Given the description of an element on the screen output the (x, y) to click on. 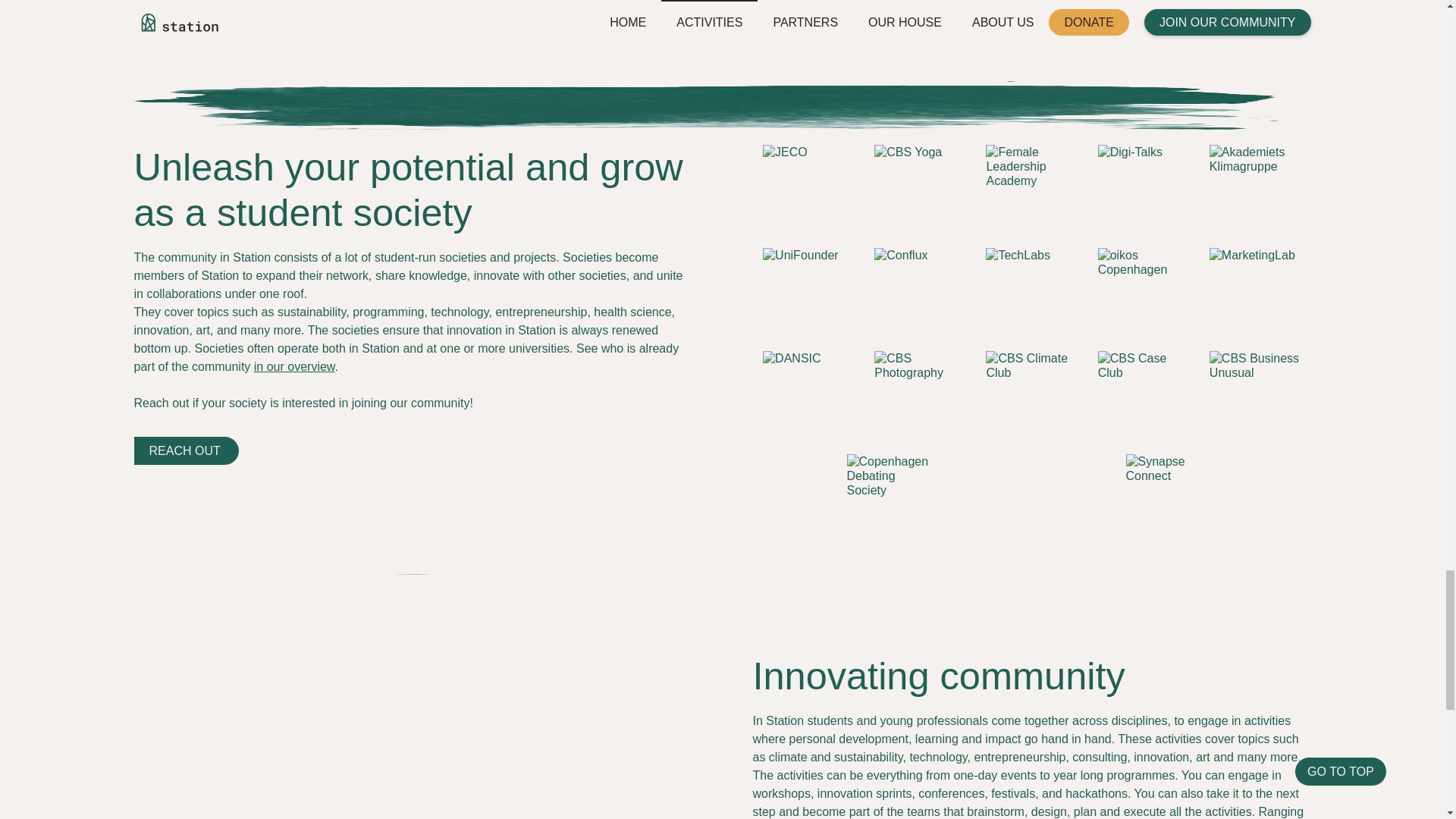
REACH OUT (185, 450)
in our overview (293, 366)
